Given the description of an element on the screen output the (x, y) to click on. 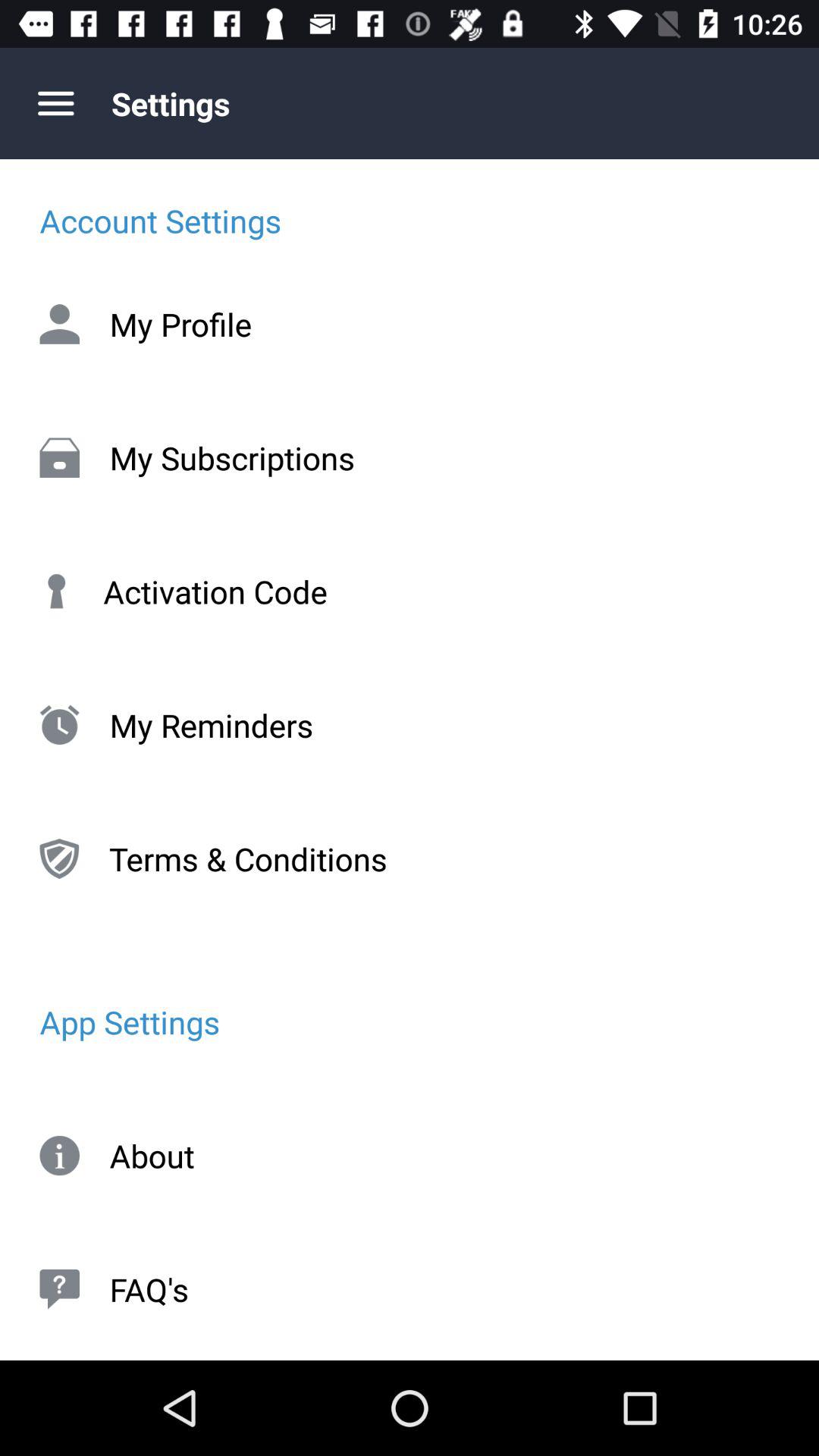
scroll to terms & conditions item (409, 858)
